Given the description of an element on the screen output the (x, y) to click on. 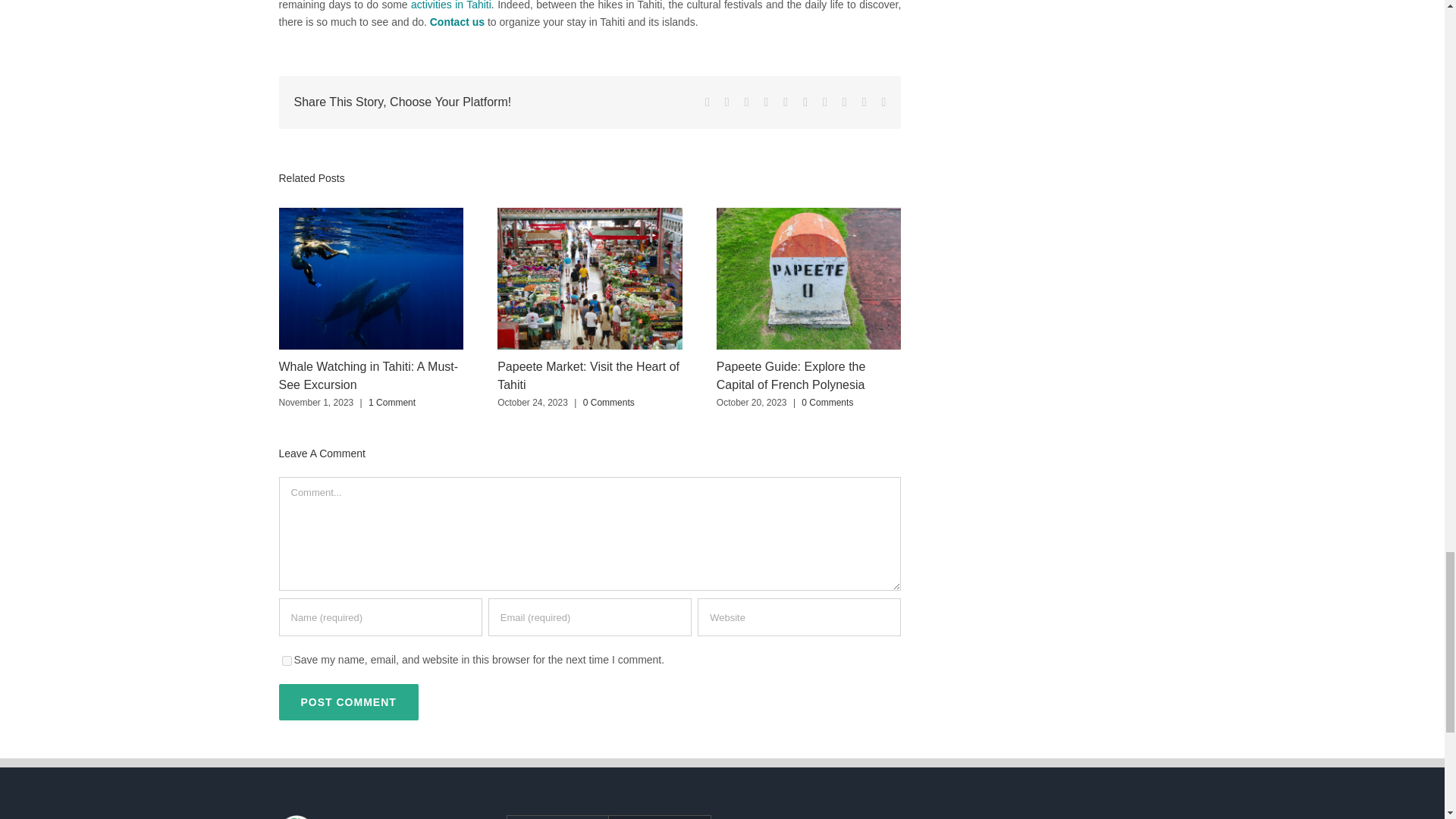
Whale Watching in Tahiti: A Must-See Excursion (368, 375)
yes (287, 660)
Papeete Market: Visit the Heart of Tahiti (588, 375)
Post Comment (349, 701)
